Given the description of an element on the screen output the (x, y) to click on. 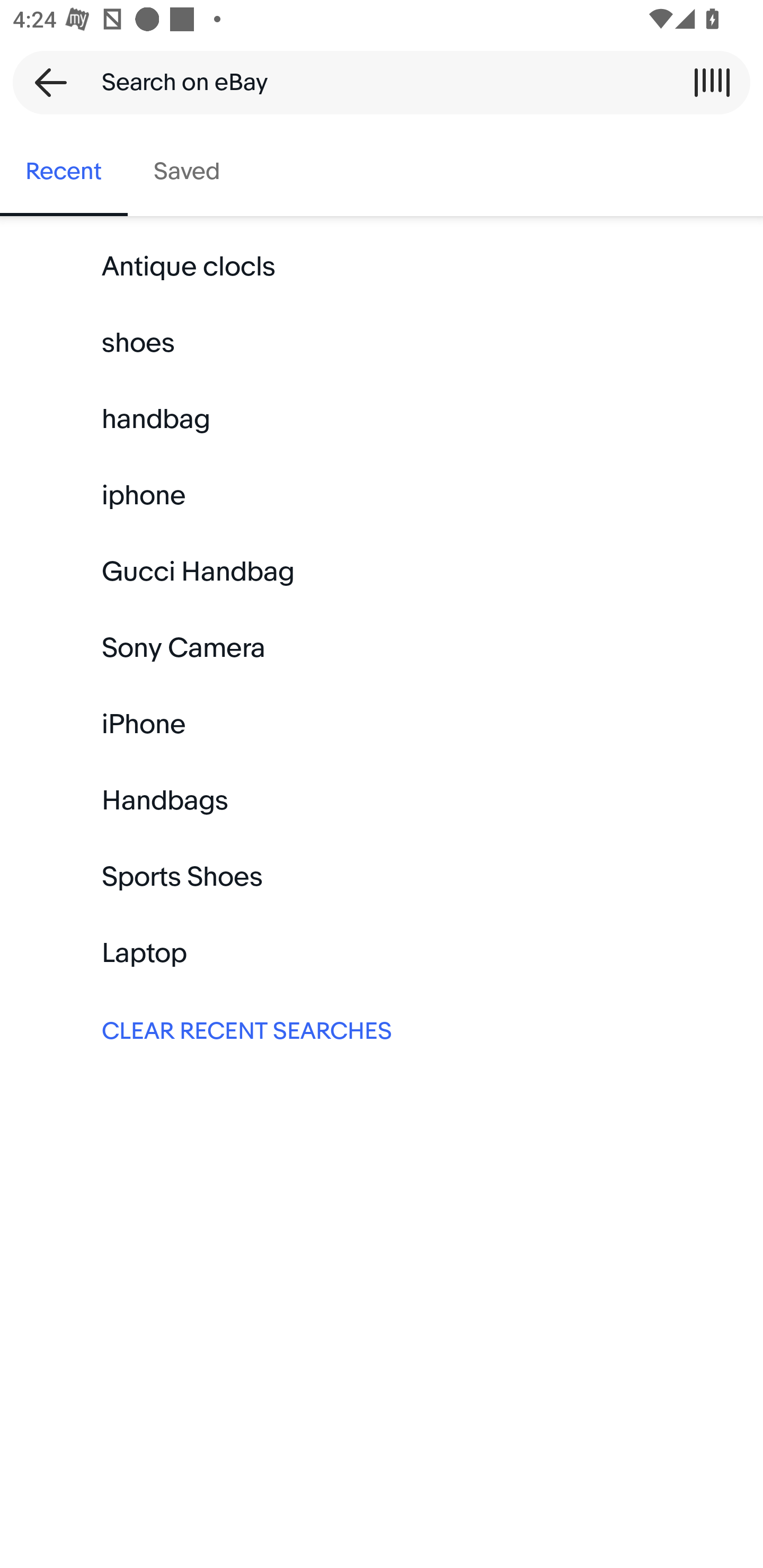
Back (44, 82)
Scan a barcode (711, 82)
Search on eBay (375, 82)
Saved, tab 2 of 2 Saved (186, 171)
Antique clocls Keyword search Antique clocls: (381, 266)
shoes Keyword search shoes: (381, 343)
handbag Keyword search handbag: (381, 419)
iphone Keyword search iphone: (381, 495)
Gucci Handbag Keyword search Gucci Handbag: (381, 571)
Sony Camera Keyword search Sony Camera: (381, 647)
iPhone Keyword search iPhone: (381, 724)
Handbags Keyword search Handbags: (381, 800)
Sports Shoes Keyword search Sports Shoes: (381, 876)
Laptop Keyword search Laptop: (381, 952)
CLEAR RECENT SEARCHES (381, 1028)
